Given the description of an element on the screen output the (x, y) to click on. 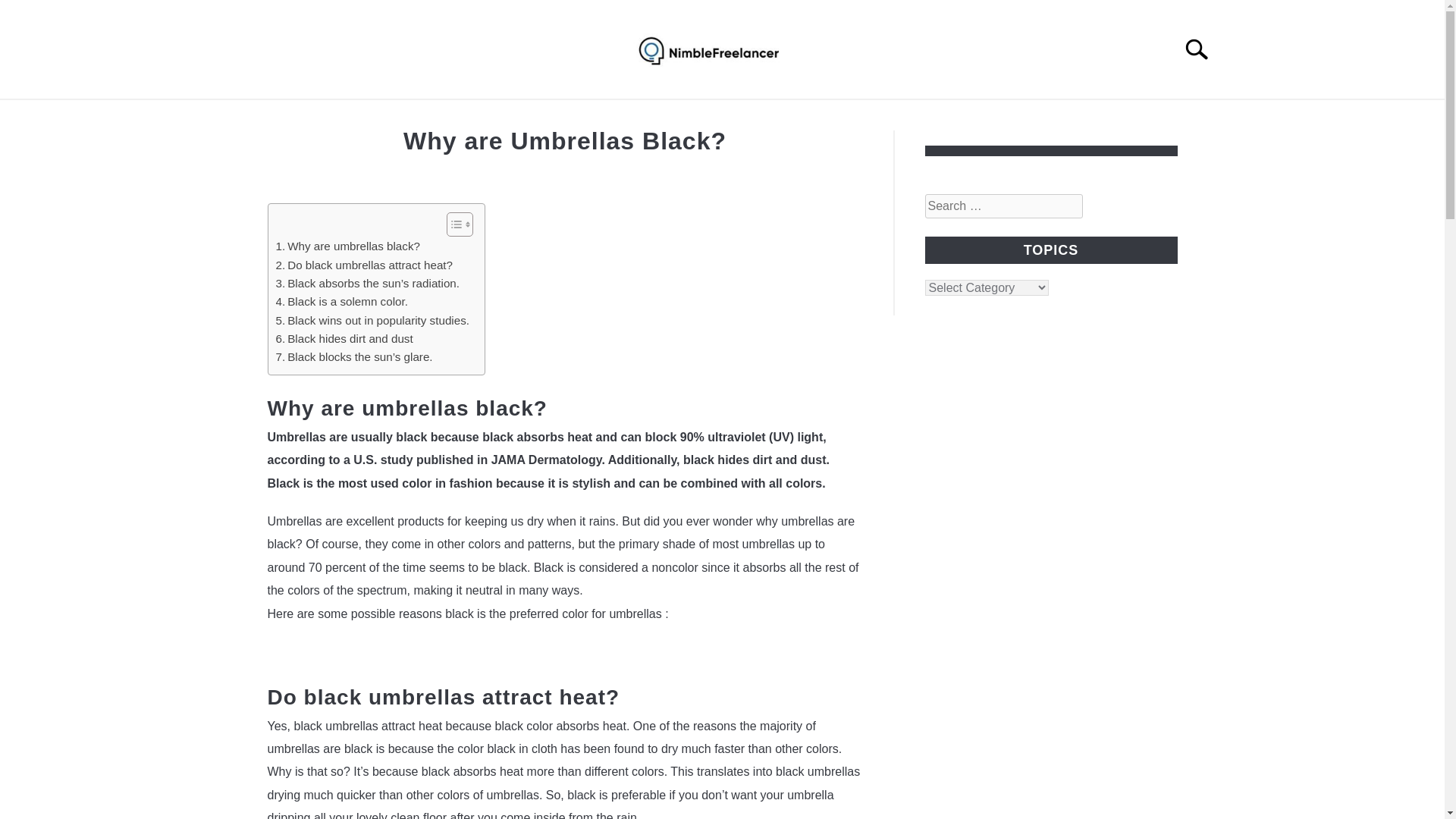
Black hides dirt and dust (344, 339)
HOME (625, 117)
Black is a solemn color. (341, 301)
Black hides dirt and dust (344, 339)
Do black umbrellas attract heat? (364, 265)
Why are umbrellas black? (348, 246)
Search (1203, 49)
Black wins out in popularity studies. (372, 321)
ABOUT US (710, 117)
CONTACT (808, 117)
Black wins out in popularity studies. (372, 321)
Why are umbrellas black? (348, 246)
Black is a solemn color. (341, 301)
Do black umbrellas attract heat? (364, 265)
